Given the description of an element on the screen output the (x, y) to click on. 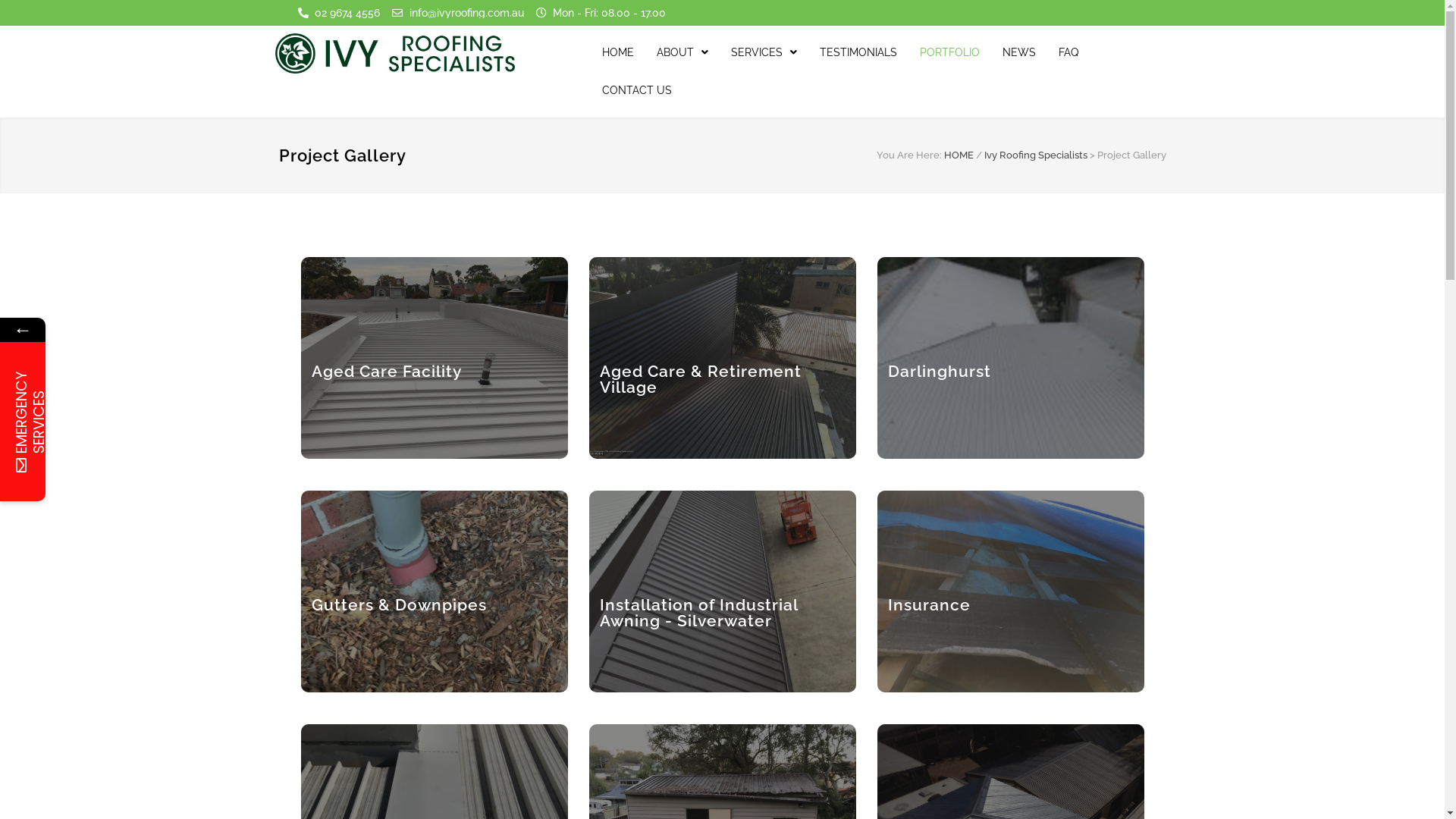
ABOUT Element type: text (682, 52)
FAQ Element type: text (1068, 52)
Ivy Roofing Specialists Element type: text (1035, 154)
PORTFOLIO Element type: text (949, 52)
HOME Element type: text (957, 154)
CONTACT US Element type: text (636, 90)
NEWS Element type: text (1019, 52)
02 9674 4556 Element type: text (338, 12)
TESTIMONIALS Element type: text (858, 52)
Submit Element type: text (201, 624)
info@ivyroofing.com.au Element type: text (458, 12)
HOME Element type: text (617, 52)
SERVICES Element type: text (763, 52)
